Given the description of an element on the screen output the (x, y) to click on. 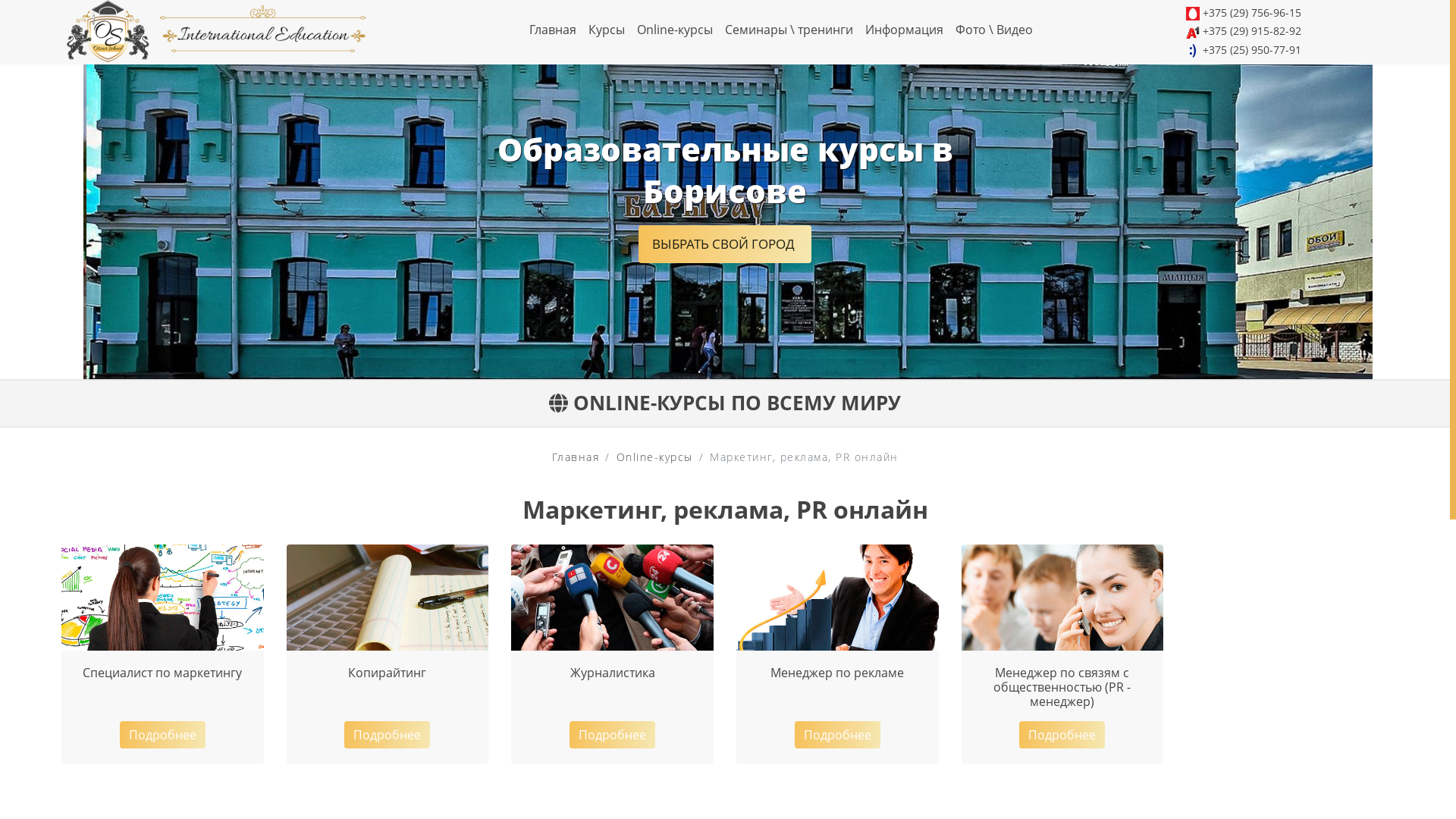
+375 (29) 915-82-92 Element type: text (1251, 30)
+375 (29) 756-96-15 Element type: text (1251, 12)
+375 (25) 950-77-91 Element type: text (1251, 49)
